Given the description of an element on the screen output the (x, y) to click on. 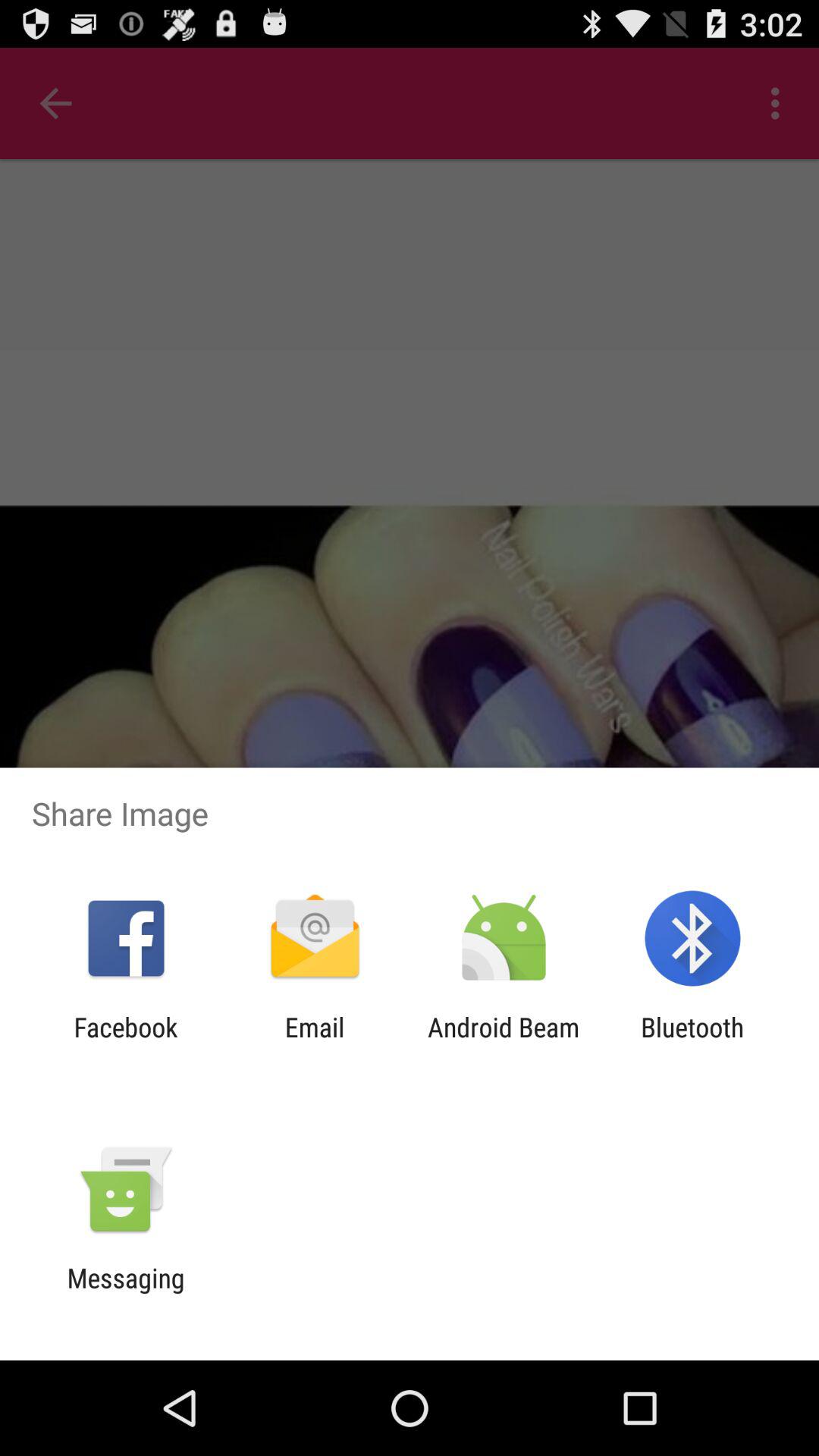
jump until the bluetooth item (691, 1042)
